Given the description of an element on the screen output the (x, y) to click on. 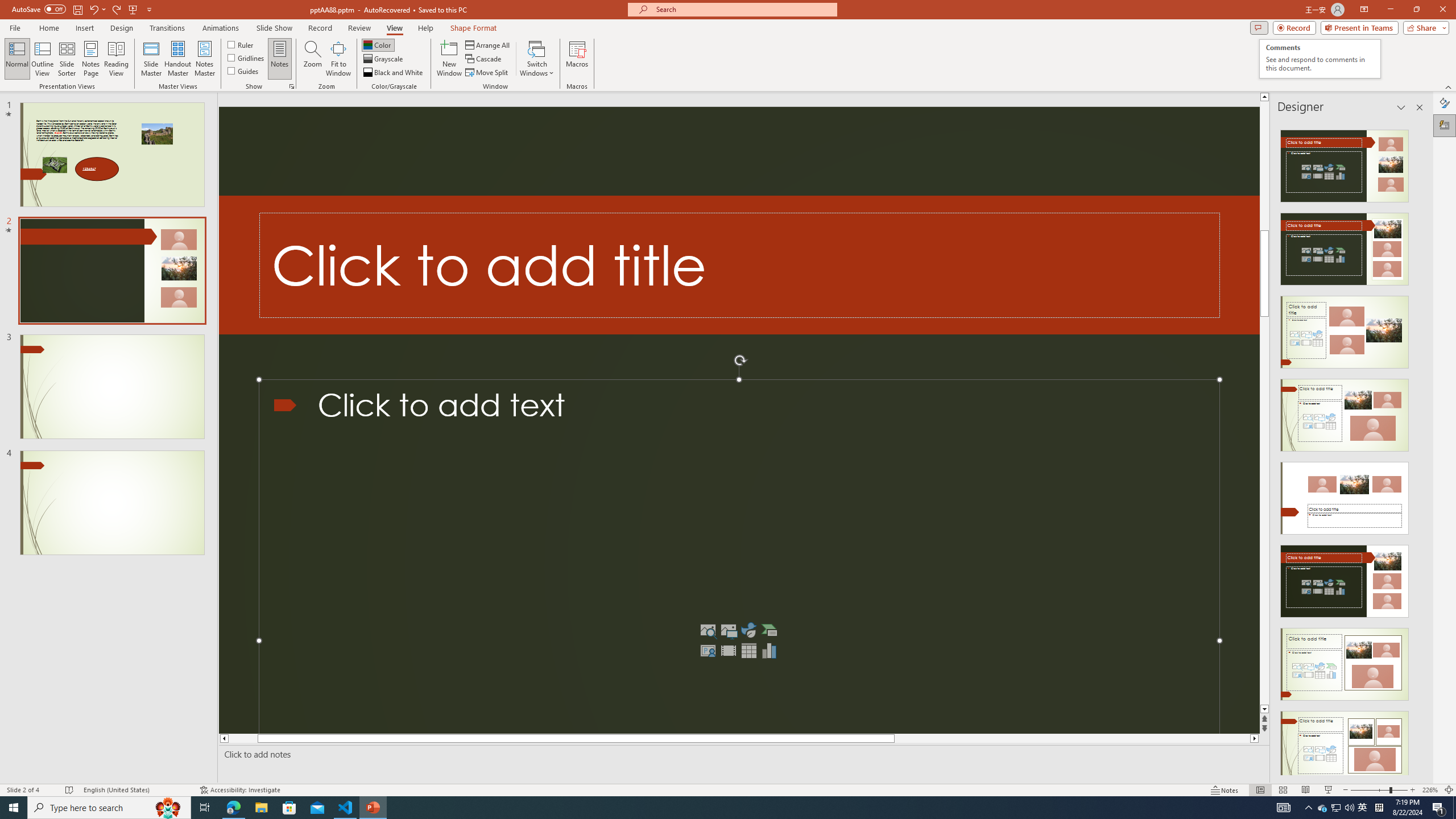
Notes (279, 58)
Handout Master (177, 58)
Content Placeholder (739, 556)
Zoom 226% (1430, 790)
Move Split (487, 72)
